Given the description of an element on the screen output the (x, y) to click on. 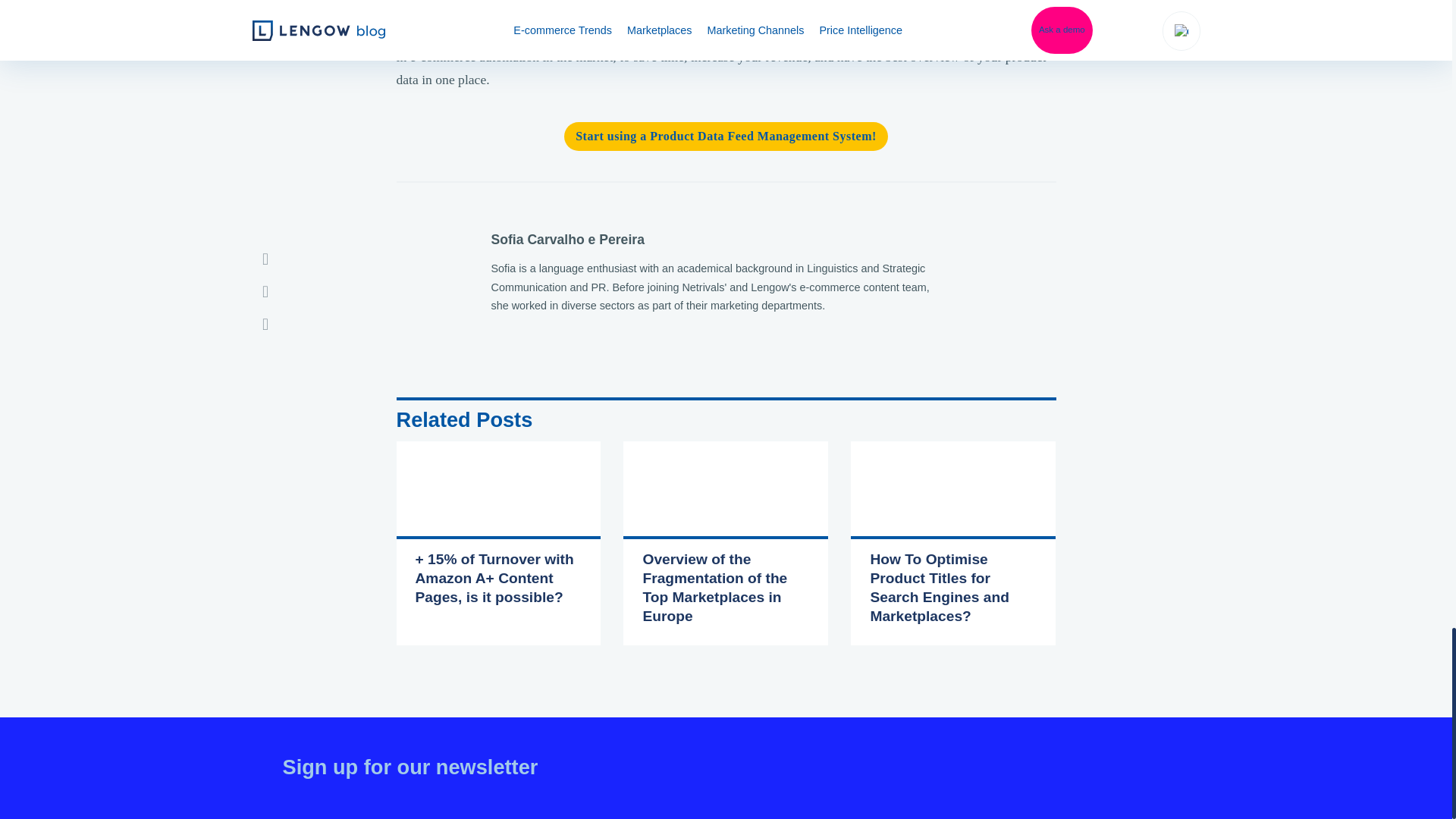
Start using a Product Data Feed Management System! (726, 136)
